Given the description of an element on the screen output the (x, y) to click on. 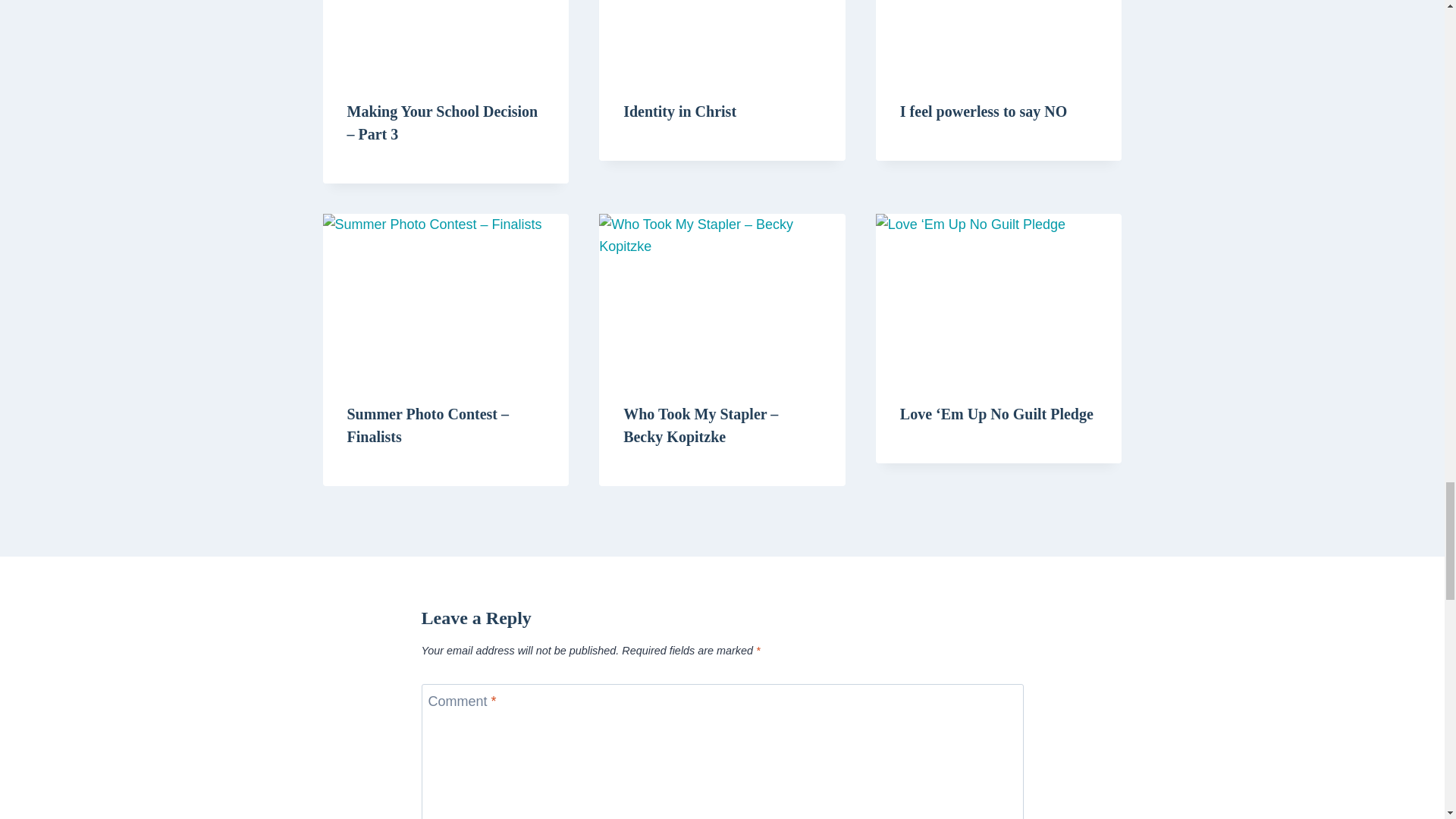
Identity in Christ (679, 111)
I feel powerless to say NO (983, 111)
